Given the description of an element on the screen output the (x, y) to click on. 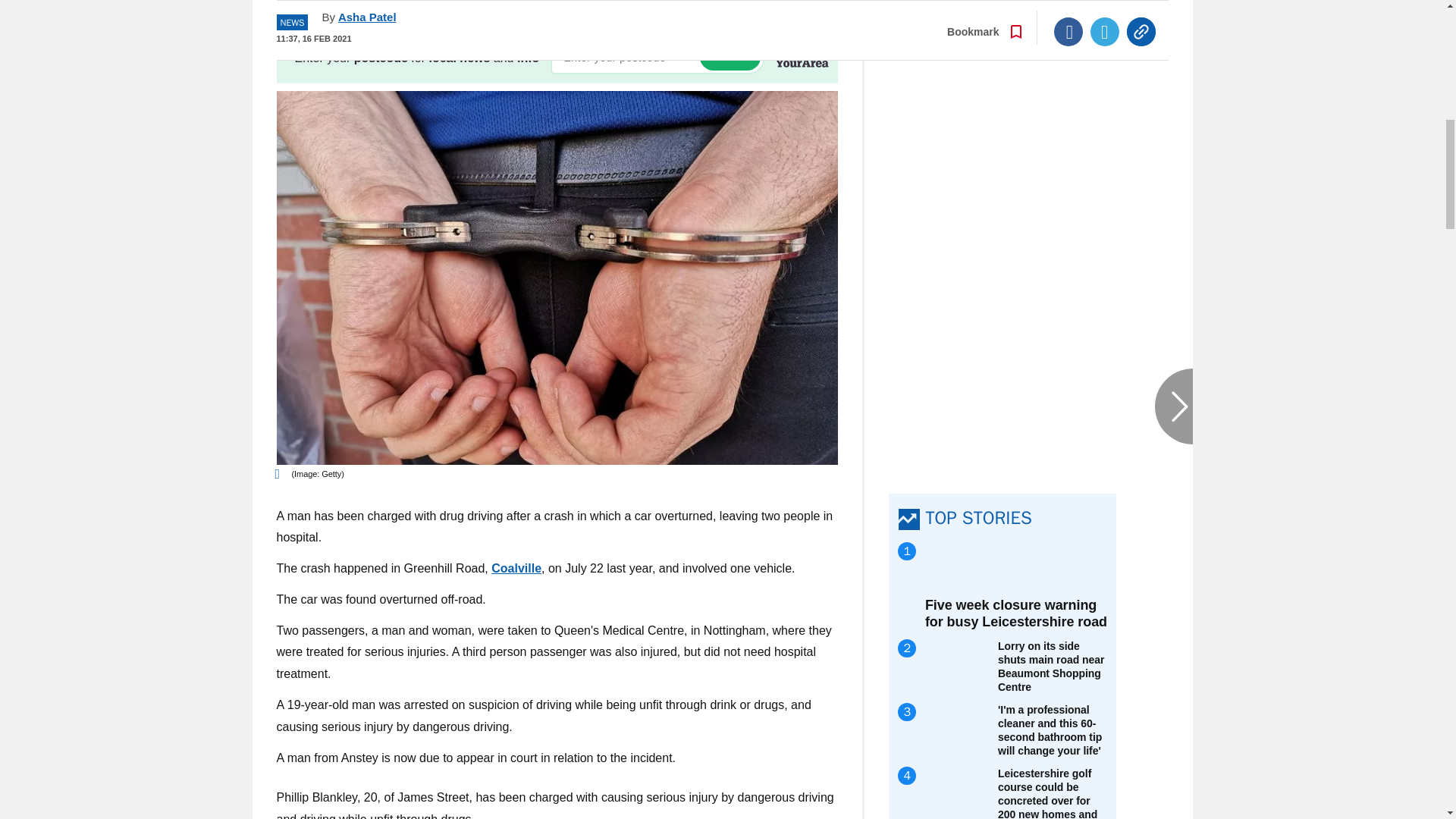
Go (730, 57)
